Given the description of an element on the screen output the (x, y) to click on. 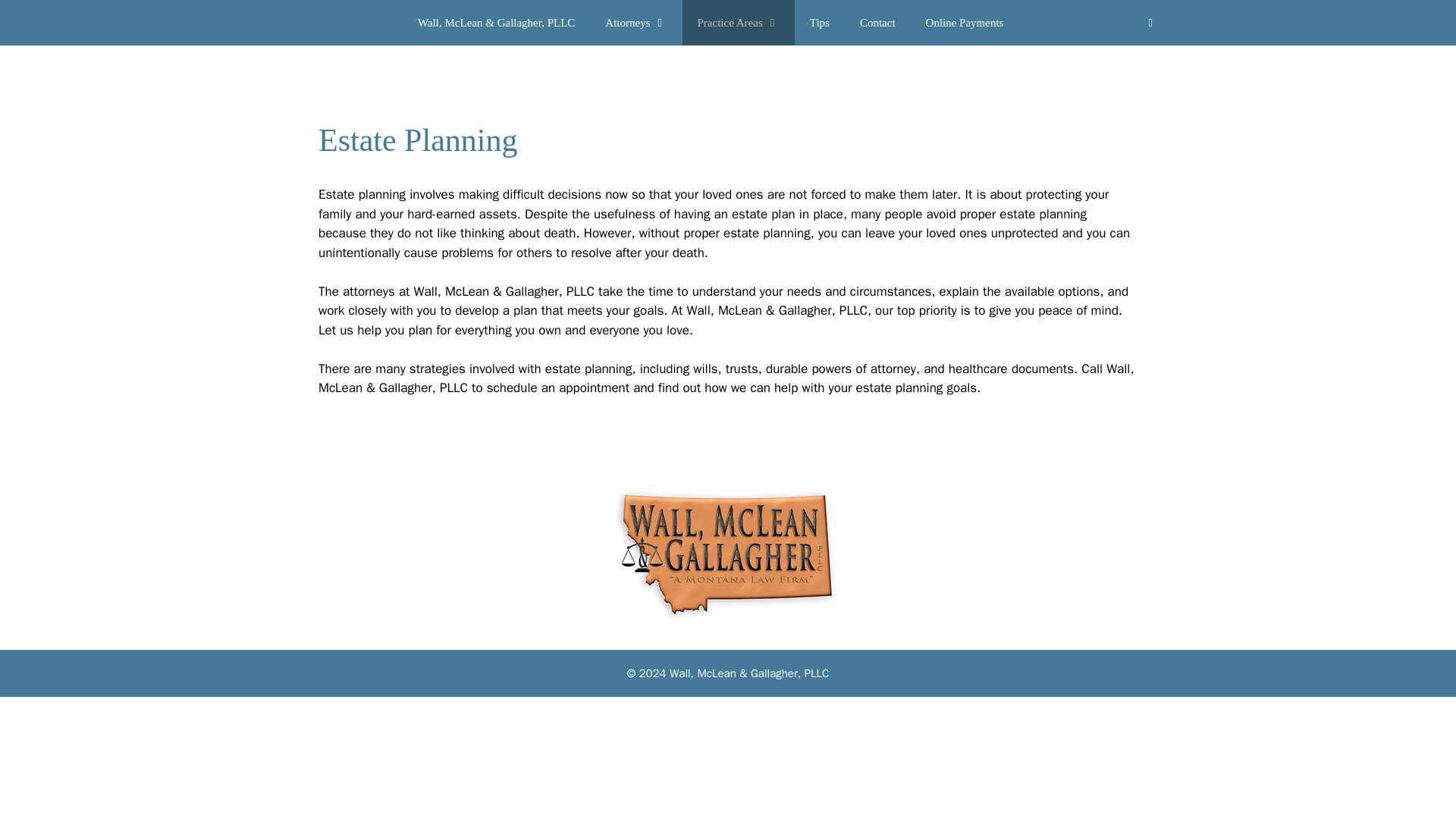
Tips (819, 22)
Online Payments (965, 22)
Contact (877, 22)
Practice Areas (738, 22)
Attorneys (635, 22)
